Given the description of an element on the screen output the (x, y) to click on. 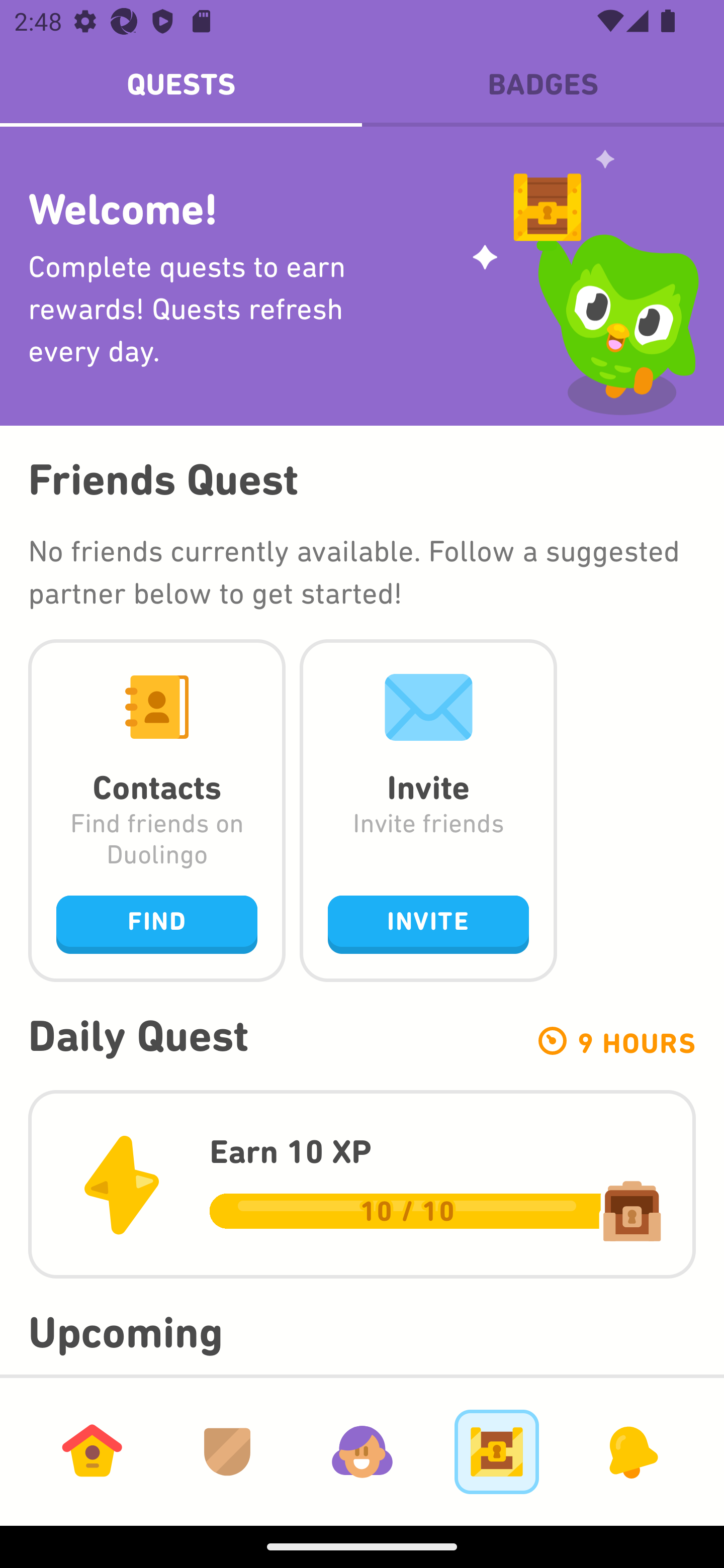
BADGES (543, 84)
FIND (156, 924)
INVITE (428, 924)
Learn Tab (91, 1451)
Leagues Tab (227, 1451)
Profile Tab (361, 1451)
Goals Tab (496, 1451)
News Tab (631, 1451)
